Given the description of an element on the screen output the (x, y) to click on. 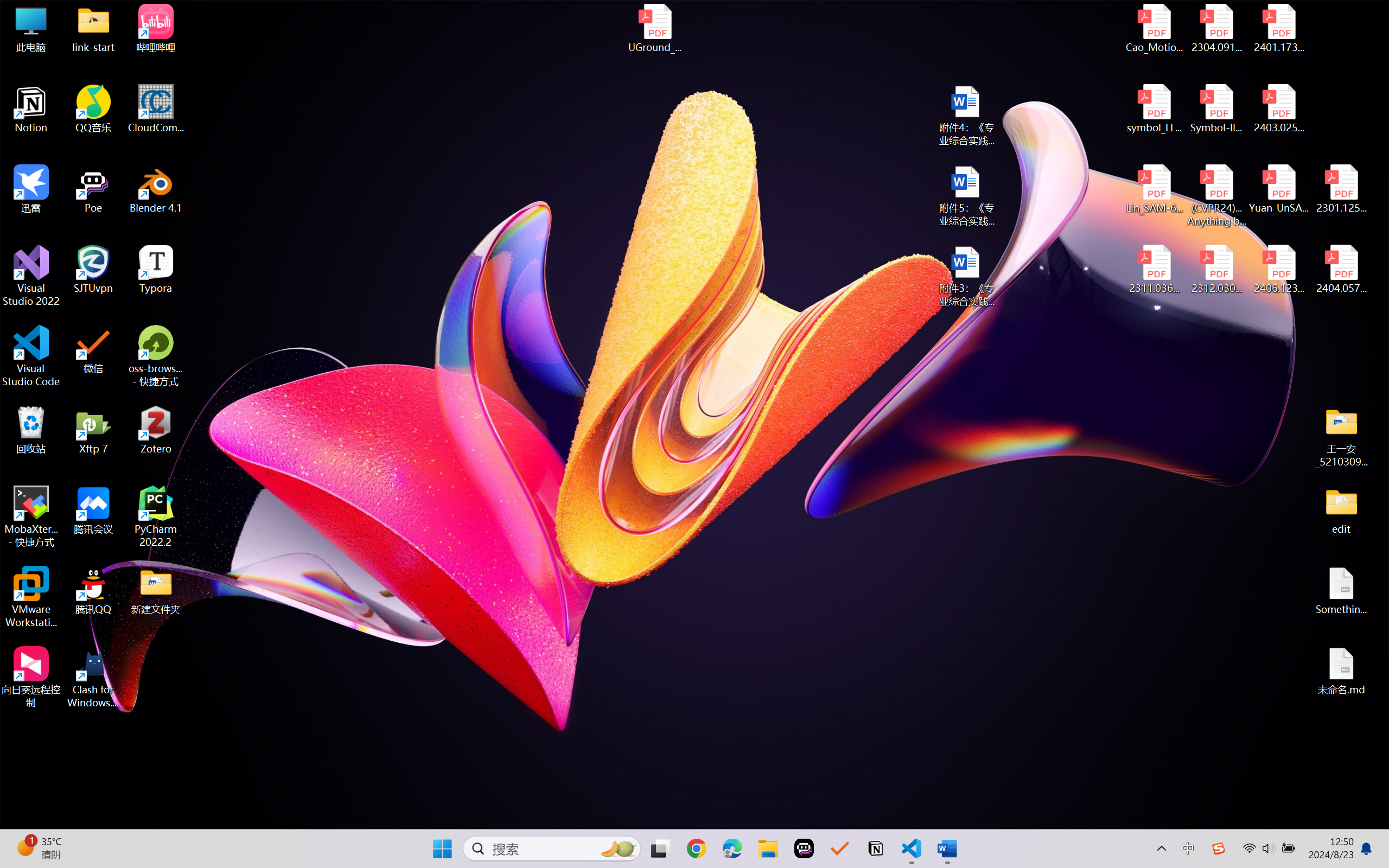
Microsoft Edge (731, 848)
2311.03658v2.pdf (1154, 269)
2404.05719v1.pdf (1340, 269)
2304.09121v3.pdf (1216, 28)
